Given the description of an element on the screen output the (x, y) to click on. 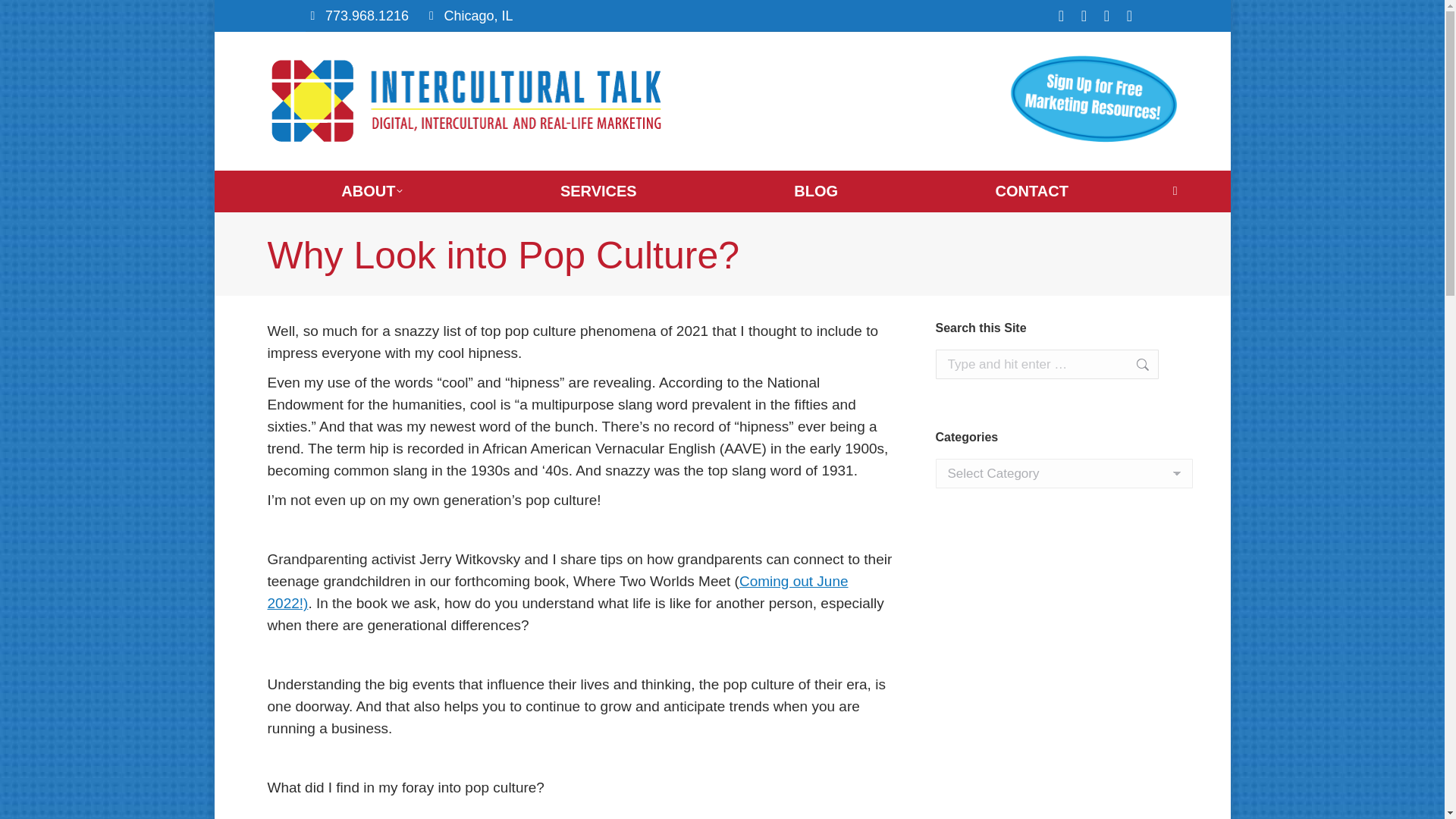
SERVICES (598, 190)
YouTube page opens in new window (1106, 15)
Go! (1134, 364)
Twitter page opens in new window (1084, 15)
Facebook page opens in new window (1061, 15)
Facebook page opens in new window (1061, 15)
773.968.1216 (366, 15)
CONTACT (1031, 190)
Go! (24, 16)
Go! (1134, 364)
